Given the description of an element on the screen output the (x, y) to click on. 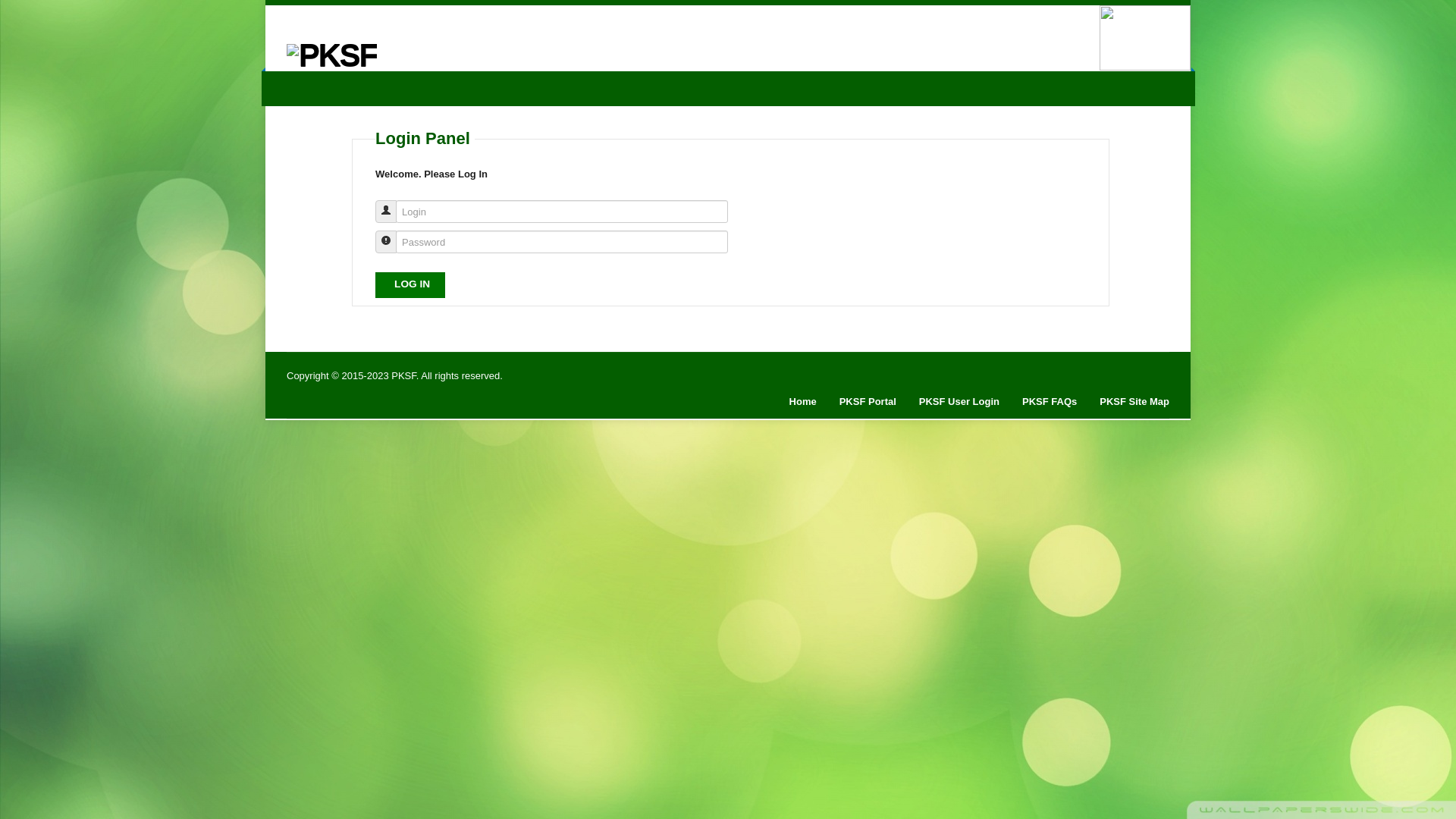
Log In Element type: text (410, 285)
Home Element type: text (802, 401)
PKSF Site Map Element type: text (1134, 401)
PKSF Portal Element type: text (867, 401)
PKSF FAQs Element type: text (1049, 401)
PKSF User Login Element type: text (959, 401)
